Given the description of an element on the screen output the (x, y) to click on. 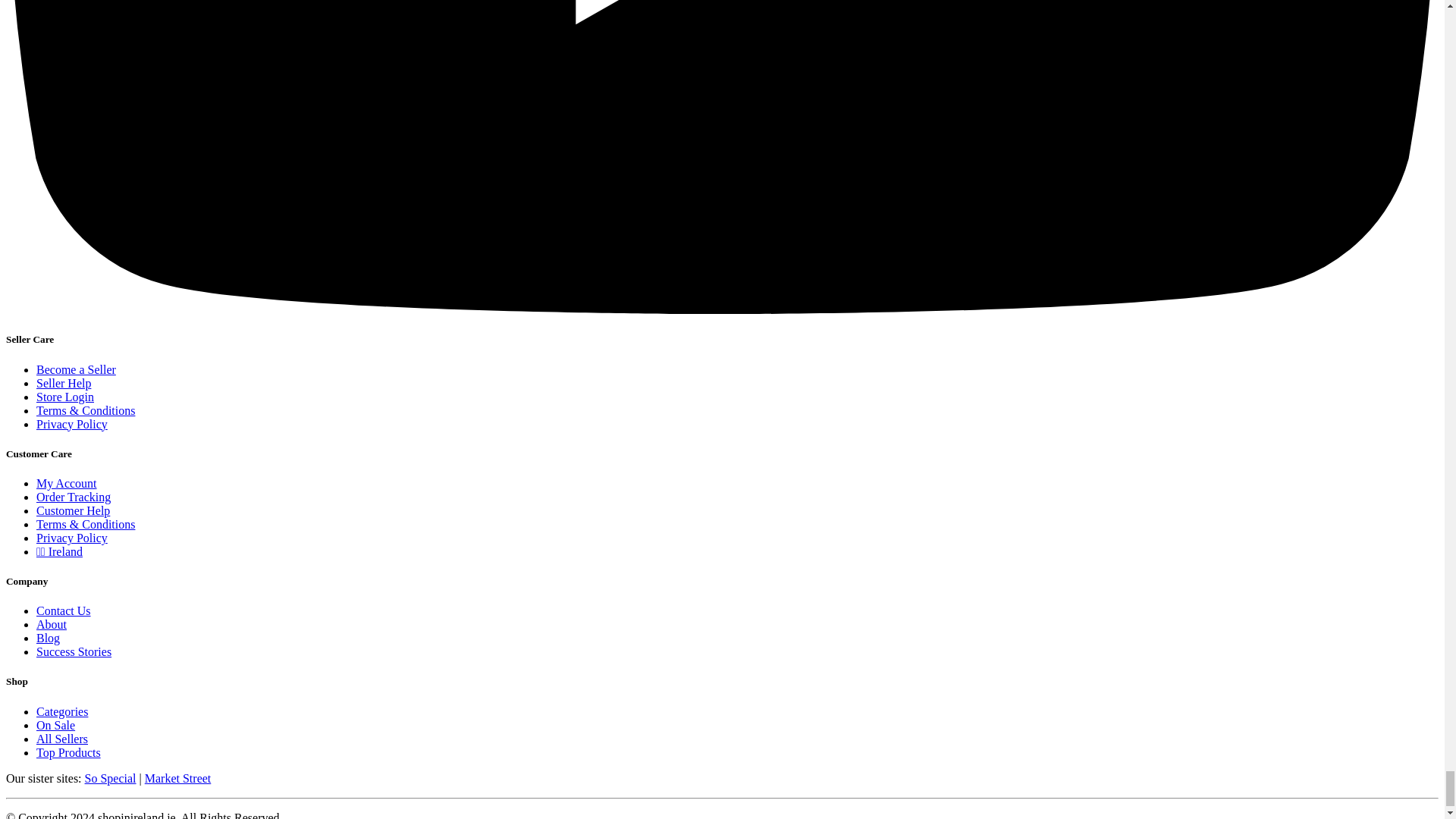
My Account (66, 482)
Become a Seller (76, 369)
Privacy Policy (71, 423)
About (51, 624)
Order Tracking (73, 496)
Customer Help (73, 510)
Store Login (65, 396)
Seller Help (63, 382)
Privacy Policy (71, 537)
Contact Us (63, 610)
